Given the description of an element on the screen output the (x, y) to click on. 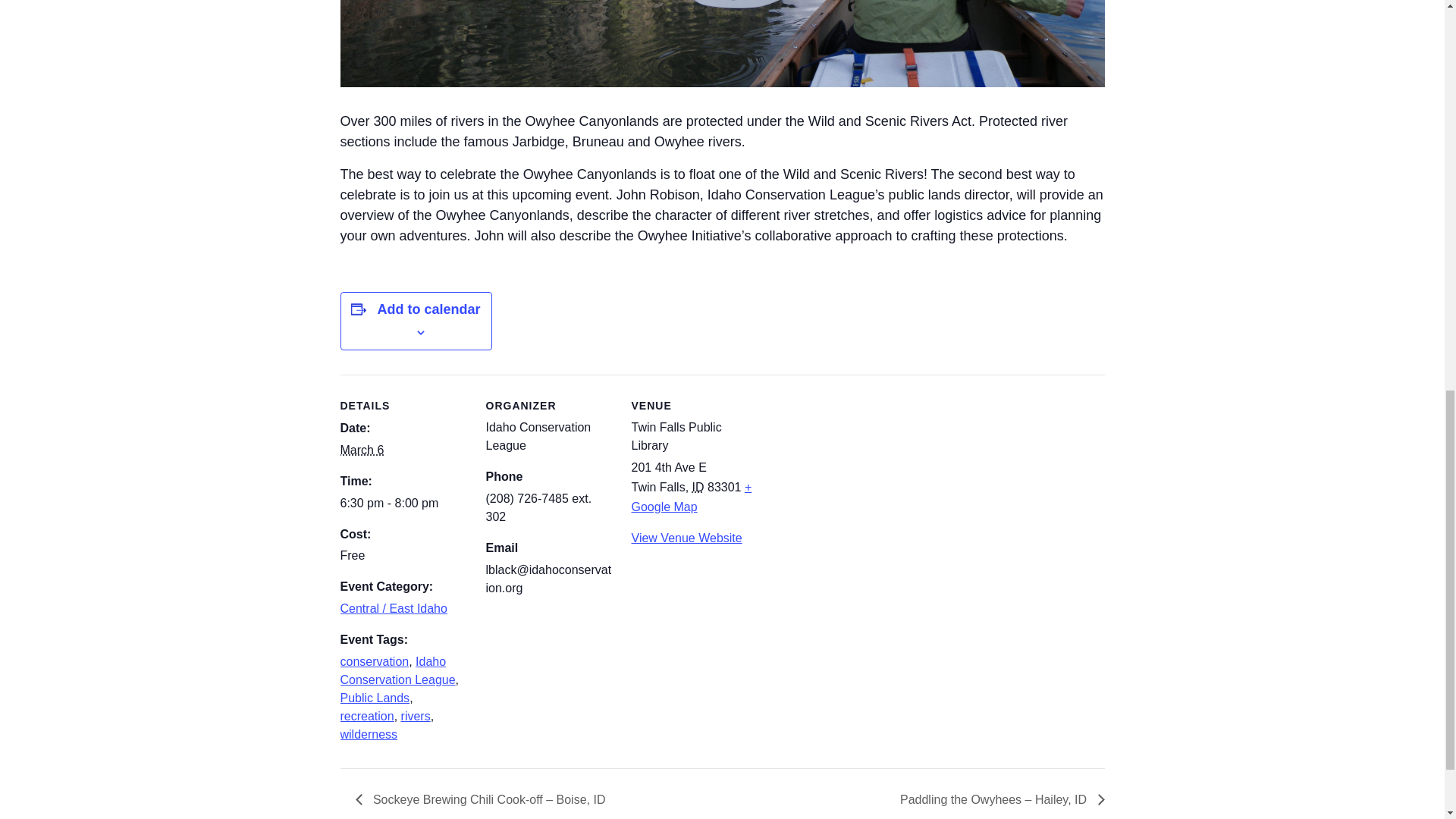
recreation (366, 716)
2024-03-06 (361, 449)
2024-03-06 (403, 503)
Public Lands (374, 697)
wilderness (368, 734)
Idaho Conservation League (396, 670)
conservation (374, 661)
Idaho (698, 486)
Add to calendar (428, 309)
rivers (415, 716)
Click to view a Google Map (690, 496)
View Venue Website (685, 537)
